Given the description of an element on the screen output the (x, y) to click on. 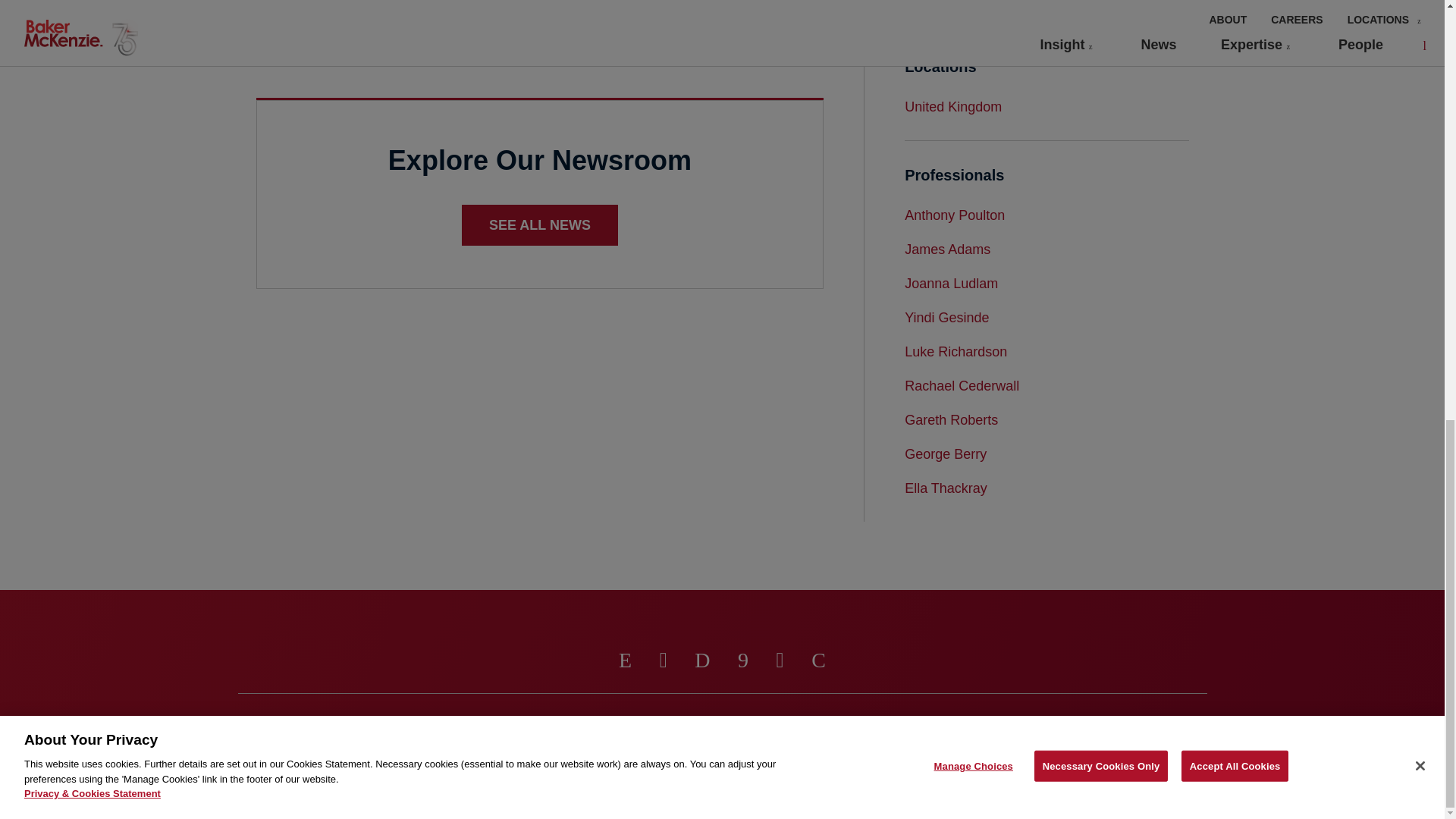
Manage Choices (596, 721)
